Given the description of an element on the screen output the (x, y) to click on. 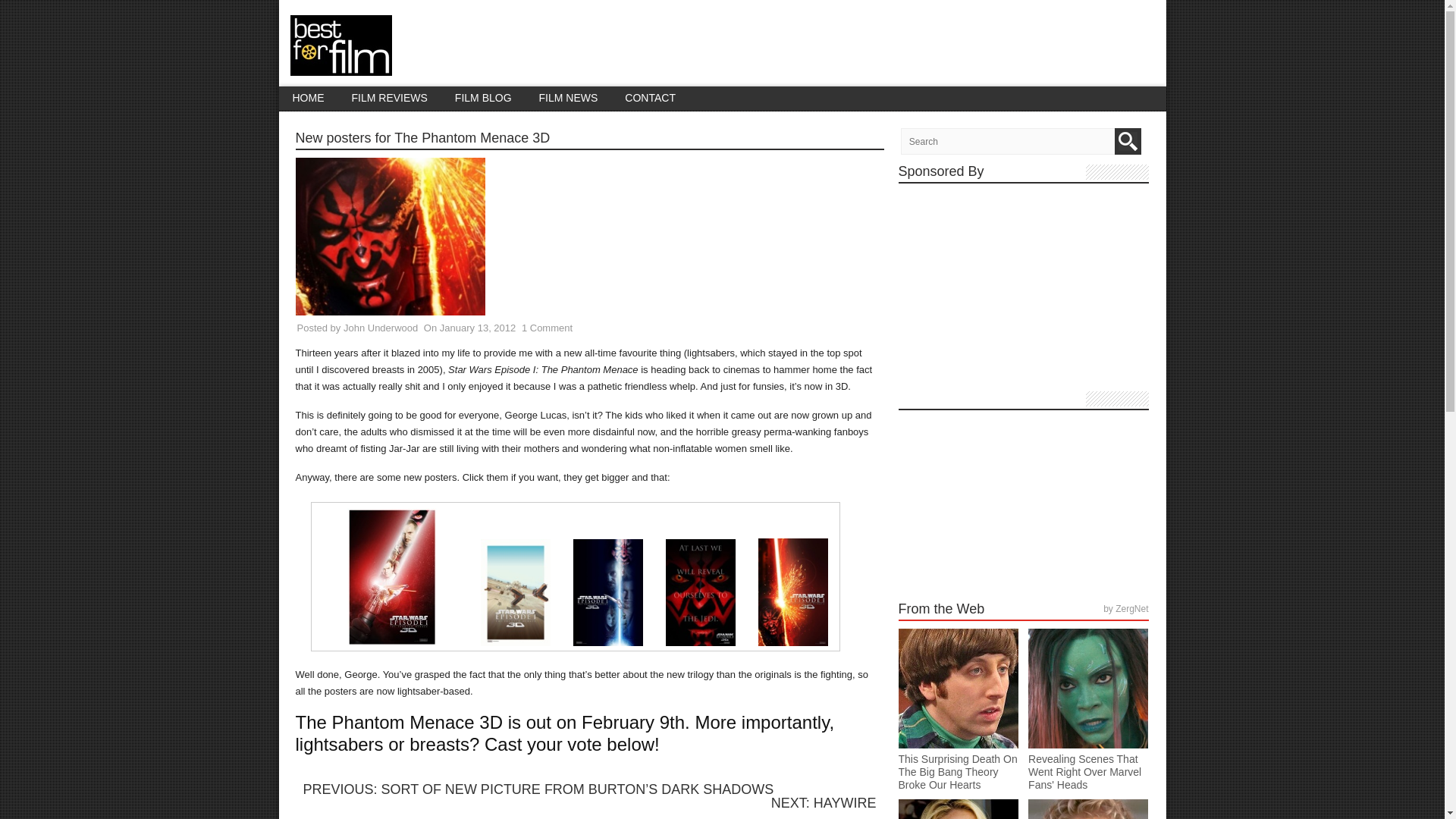
Best For Film (340, 67)
FILM REVIEWS (389, 97)
HOME (308, 97)
Advertisement (1023, 289)
John Underwood (380, 327)
Posts by John Underwood (380, 327)
Search (1128, 140)
NEXT: HAYWIRE (823, 802)
FILM NEWS (568, 97)
FILM BLOG (483, 97)
1 Comment (546, 327)
CONTACT (649, 97)
